Given the description of an element on the screen output the (x, y) to click on. 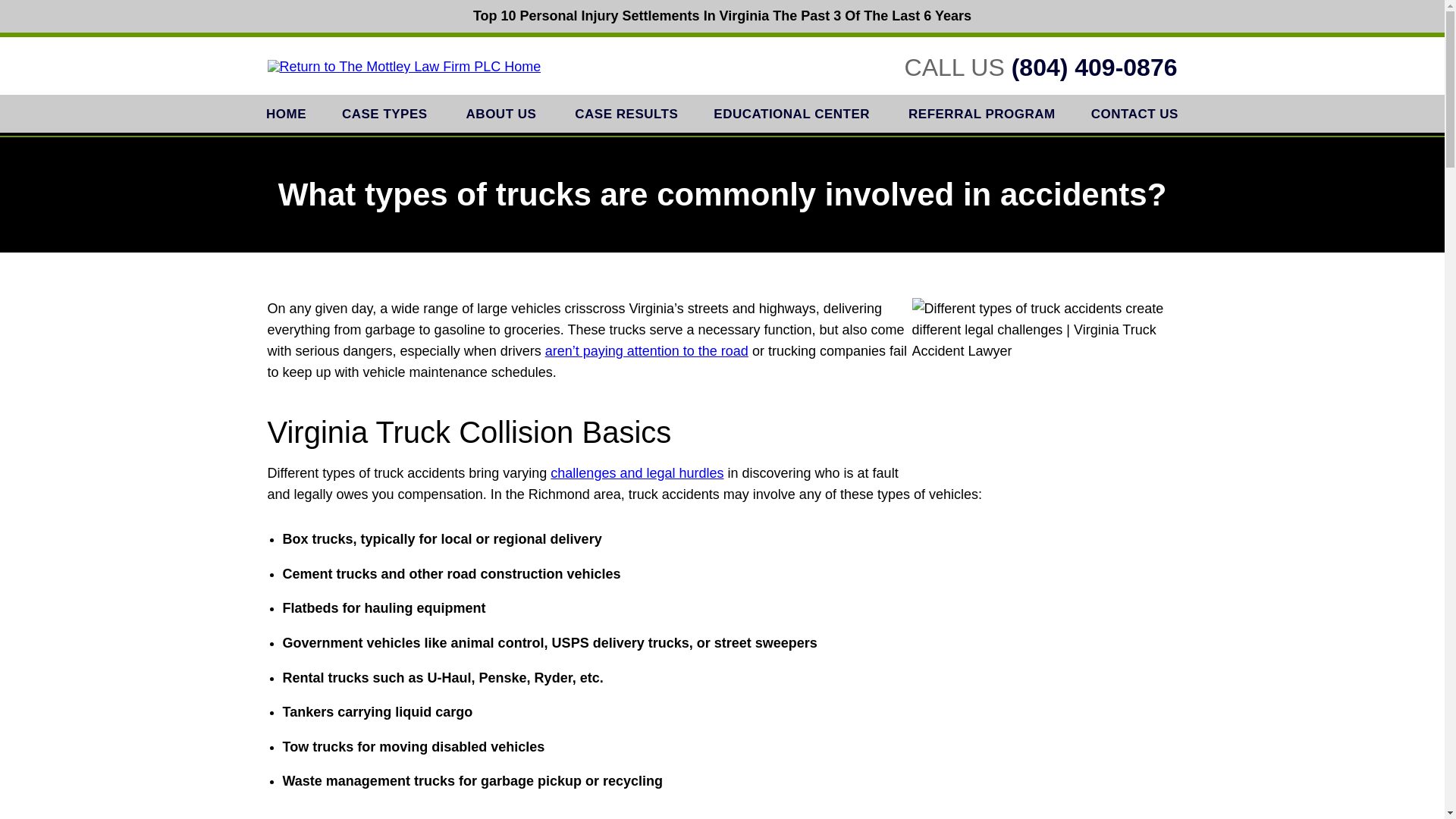
HOME (286, 114)
CASE TYPES (385, 114)
